Given the description of an element on the screen output the (x, y) to click on. 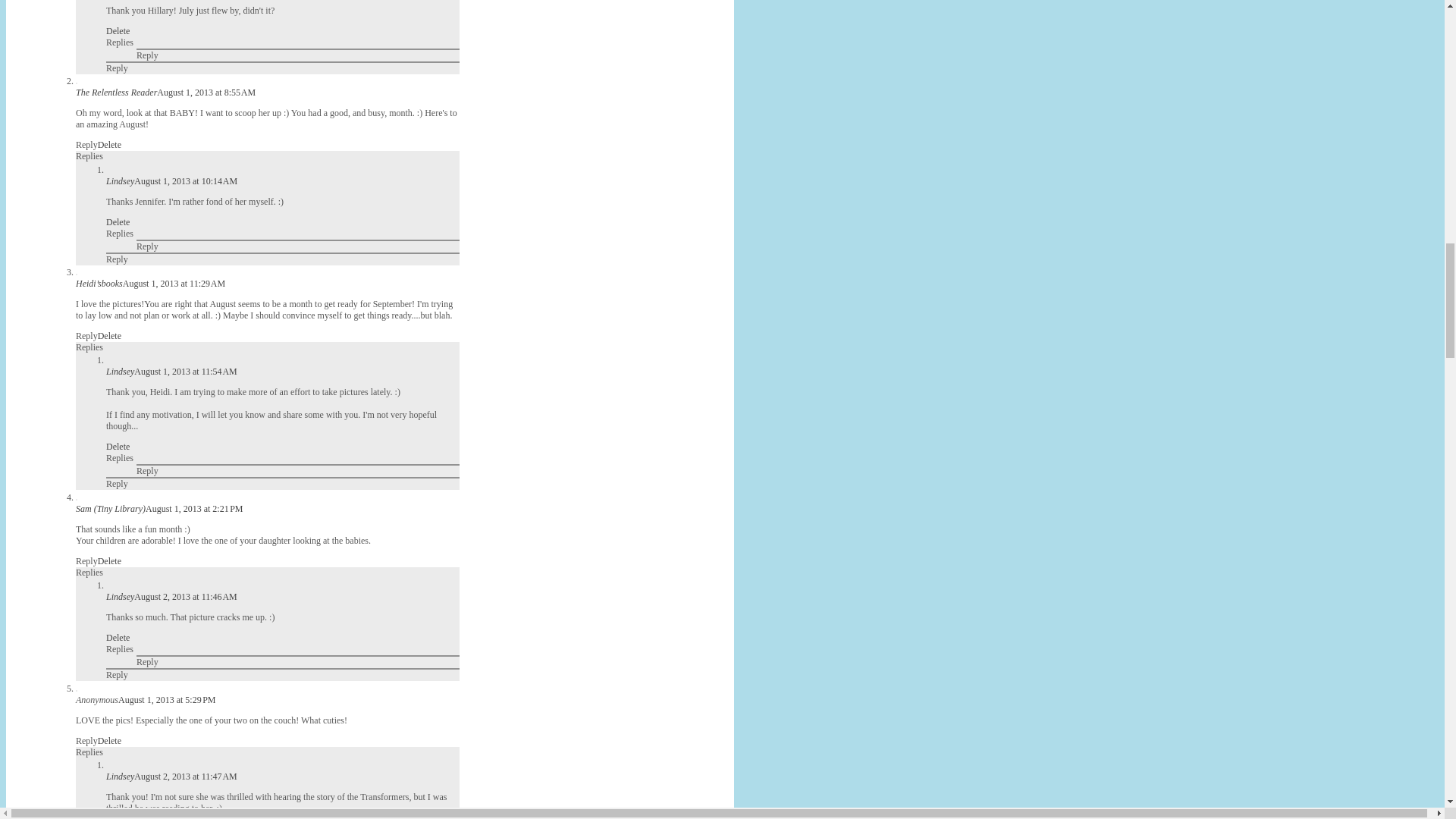
Reply (117, 68)
Replies (119, 41)
The Relentless Reader (116, 91)
Lindsey (119, 181)
Replies (89, 155)
Delete (117, 30)
Delete (108, 144)
Reply (86, 144)
Reply (147, 54)
